Given the description of an element on the screen output the (x, y) to click on. 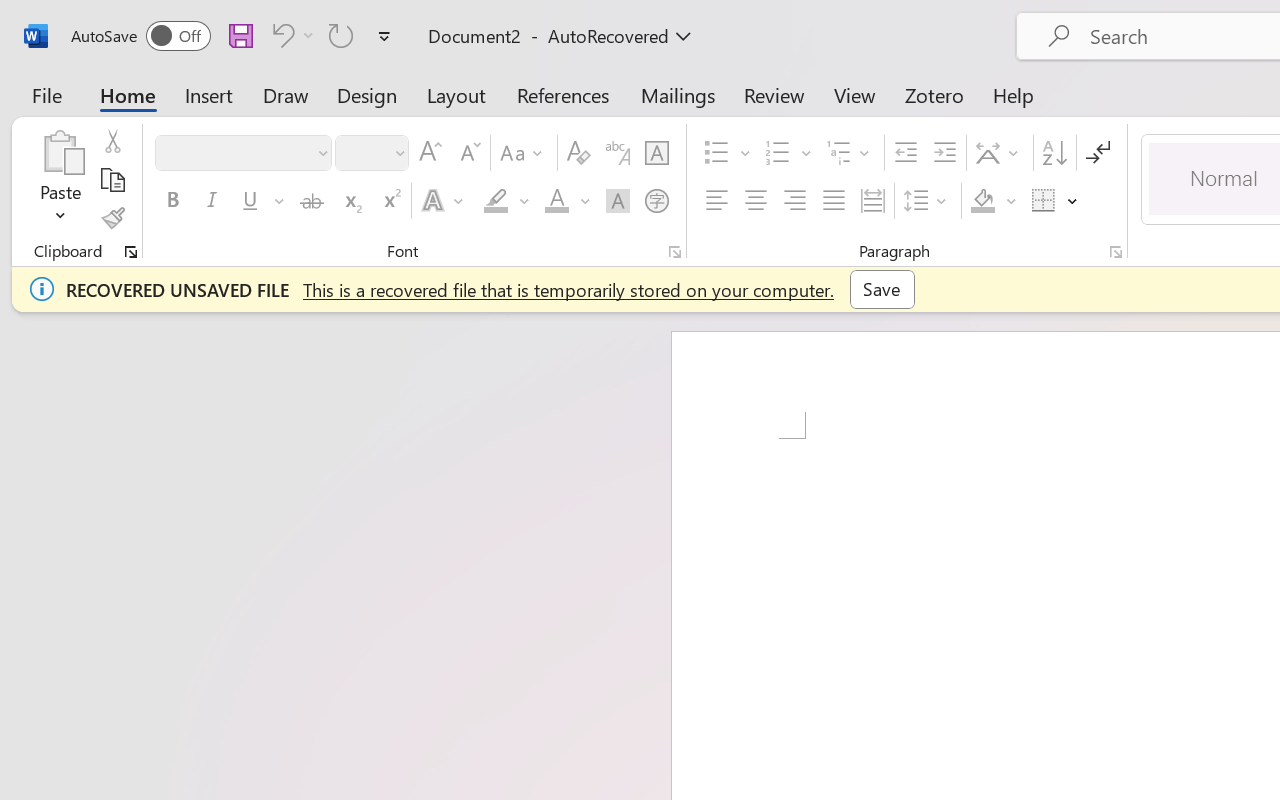
Shading RGB(0, 0, 0) (982, 201)
Format Painter (112, 218)
Subscript (350, 201)
Character Shading (618, 201)
Asian Layout (1000, 153)
Phonetic Guide... (618, 153)
